Given the description of an element on the screen output the (x, y) to click on. 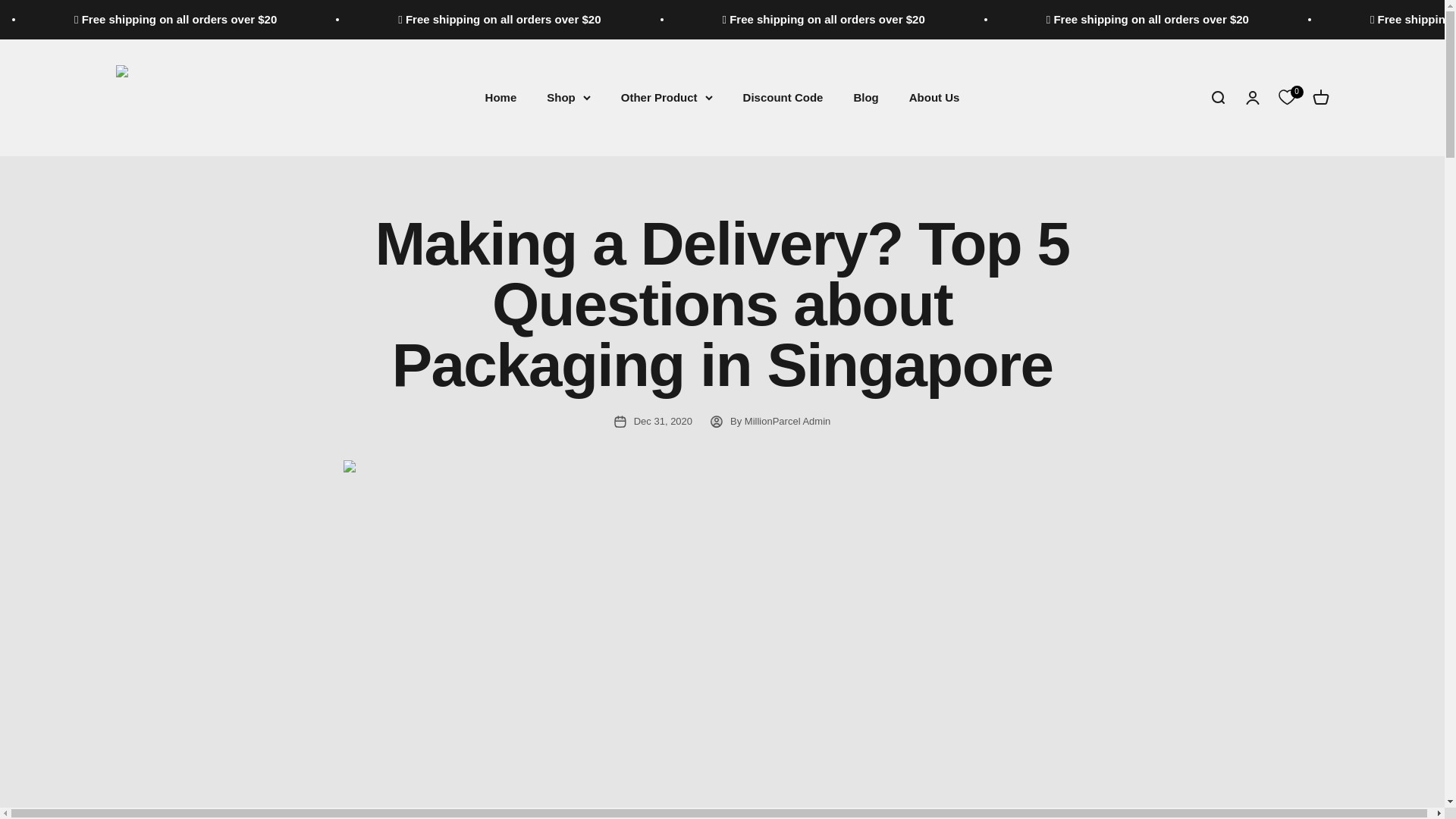
0 (1286, 97)
Open account page (1251, 97)
Open search (1216, 97)
About Us (933, 97)
MillionParcel (228, 97)
Blog (865, 97)
Open cart (1319, 97)
Discount Code (783, 97)
Home (500, 97)
